Given the description of an element on the screen output the (x, y) to click on. 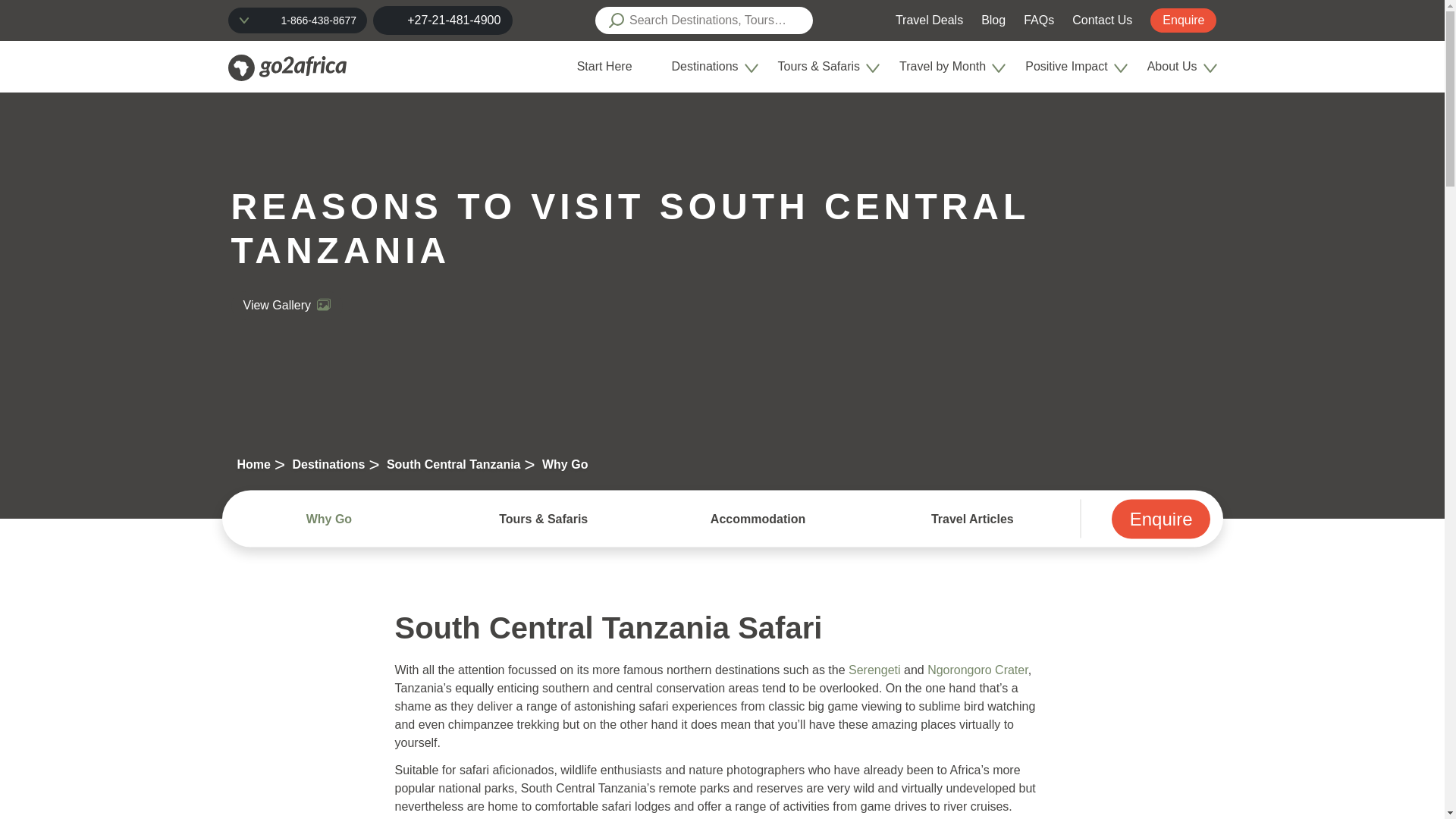
1-866-438-8677 (318, 20)
FAQs (1038, 20)
Destinations (710, 66)
1-866-438-8677 (296, 20)
Contact Us (1101, 20)
Start Here (610, 66)
Ngorongoro Crater safari (977, 669)
Serengeti safari (874, 669)
Blog (993, 20)
Enquire (1182, 20)
